Given the description of an element on the screen output the (x, y) to click on. 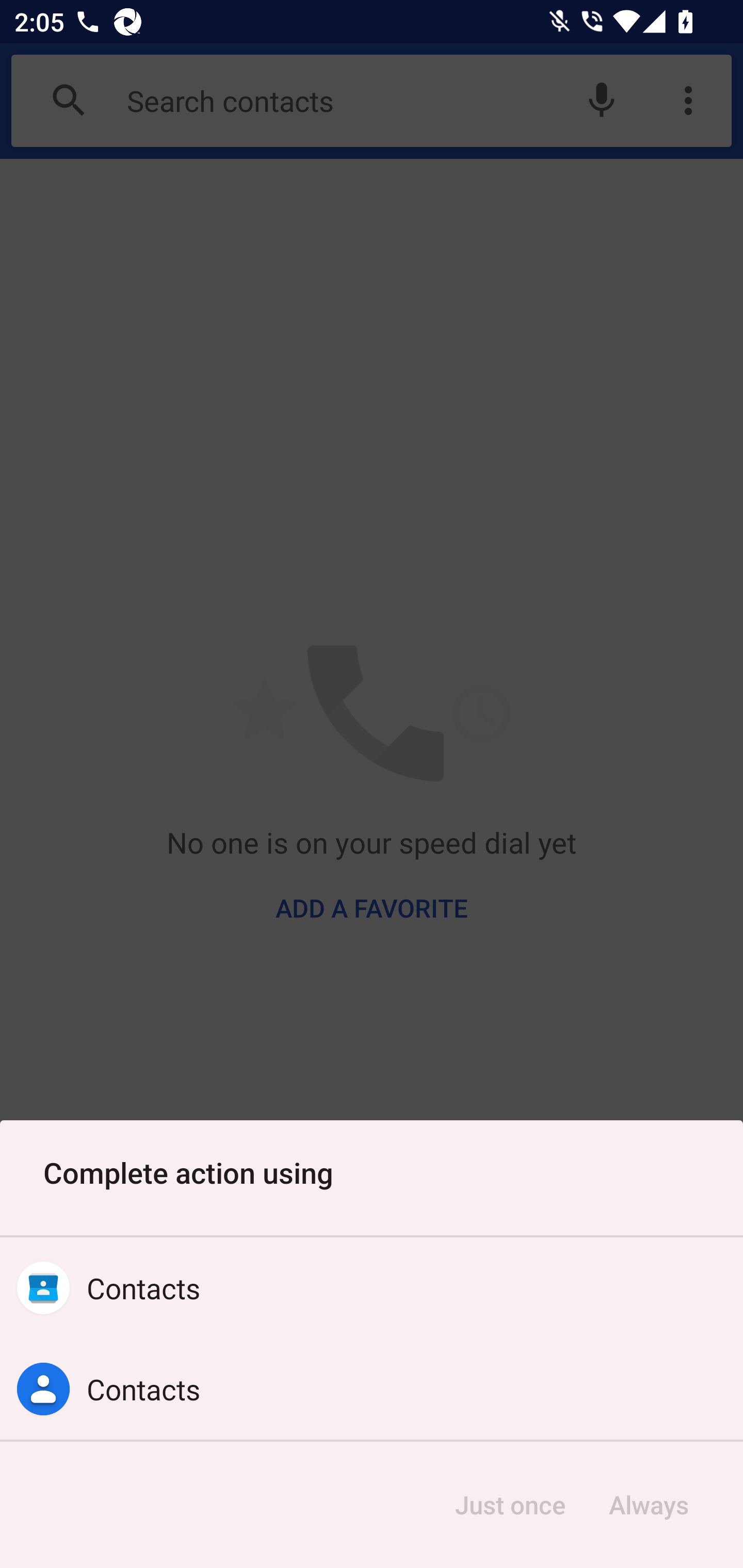
Contacts (371, 1288)
Contacts (371, 1389)
Just once (509, 1504)
Always (648, 1504)
